Given the description of an element on the screen output the (x, y) to click on. 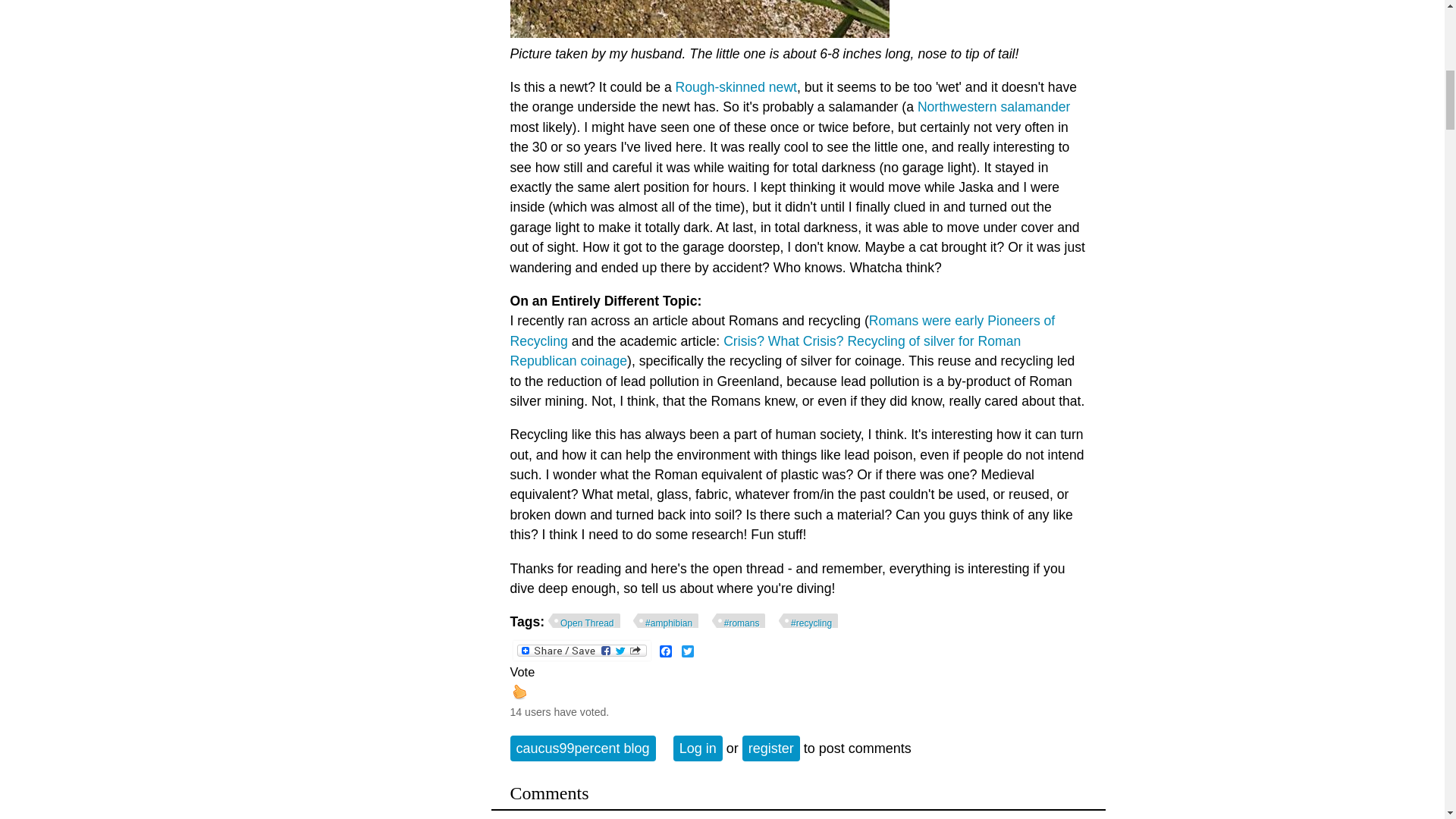
Northwestern salamander (993, 106)
caucus99percent blog (582, 748)
Facebook (665, 650)
Rough-skinned newt (735, 87)
register (770, 748)
Twitter (687, 650)
Read the latest caucus99percent blog entries. (582, 748)
Log in (697, 748)
Open Thread (584, 621)
Romans were early Pioneers of Recycling (781, 330)
